Given the description of an element on the screen output the (x, y) to click on. 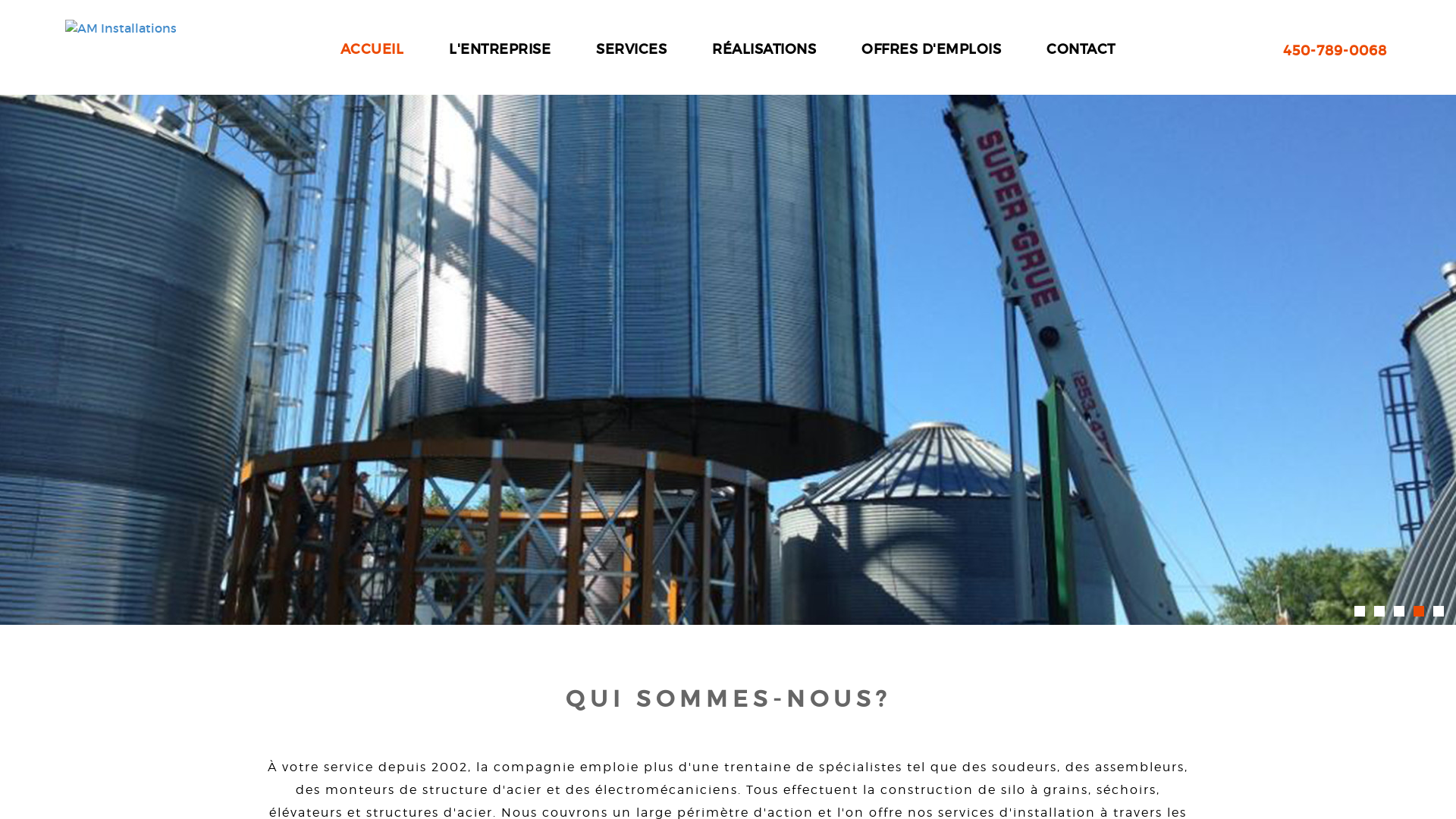
OFFRES D'EMPLOIS Element type: text (931, 48)
2 Element type: text (1379, 610)
CONTACT Element type: text (1080, 48)
ACCUEIL Element type: text (372, 48)
5 Element type: text (1438, 610)
4 Element type: text (1418, 610)
450-789-0068 Element type: text (1334, 51)
1 Element type: text (1359, 610)
L'ENTREPRISE Element type: text (499, 48)
3 Element type: text (1398, 610)
SERVICES Element type: text (631, 48)
